Given the description of an element on the screen output the (x, y) to click on. 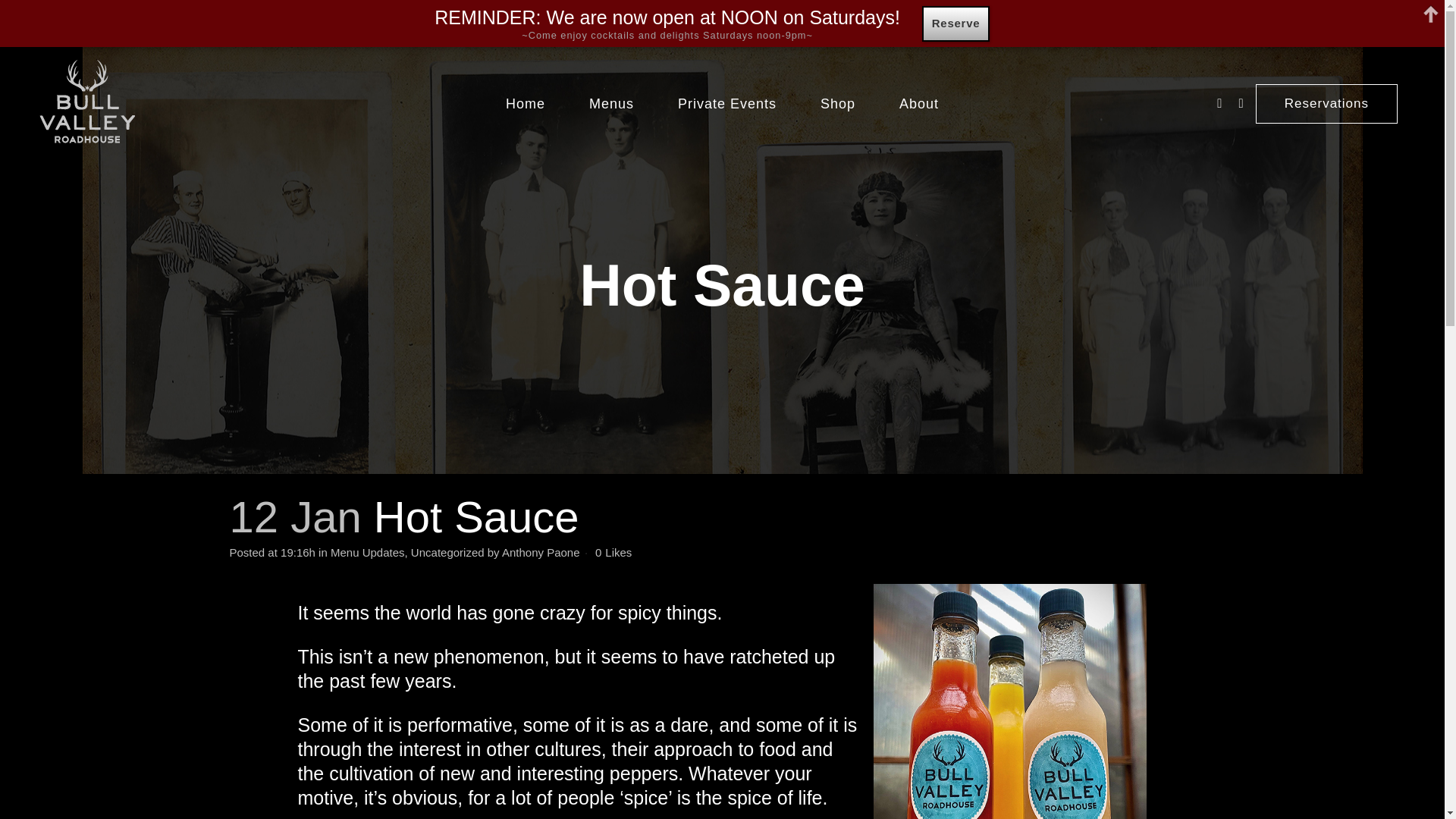
Menu Updates (367, 552)
Home (525, 103)
Reservations (1326, 103)
Like this (613, 552)
About (918, 103)
Anthony Paone (540, 552)
Menus (611, 103)
0 Likes (613, 552)
Uncategorized (447, 552)
Shop (837, 103)
Private Events (726, 103)
